Given the description of an element on the screen output the (x, y) to click on. 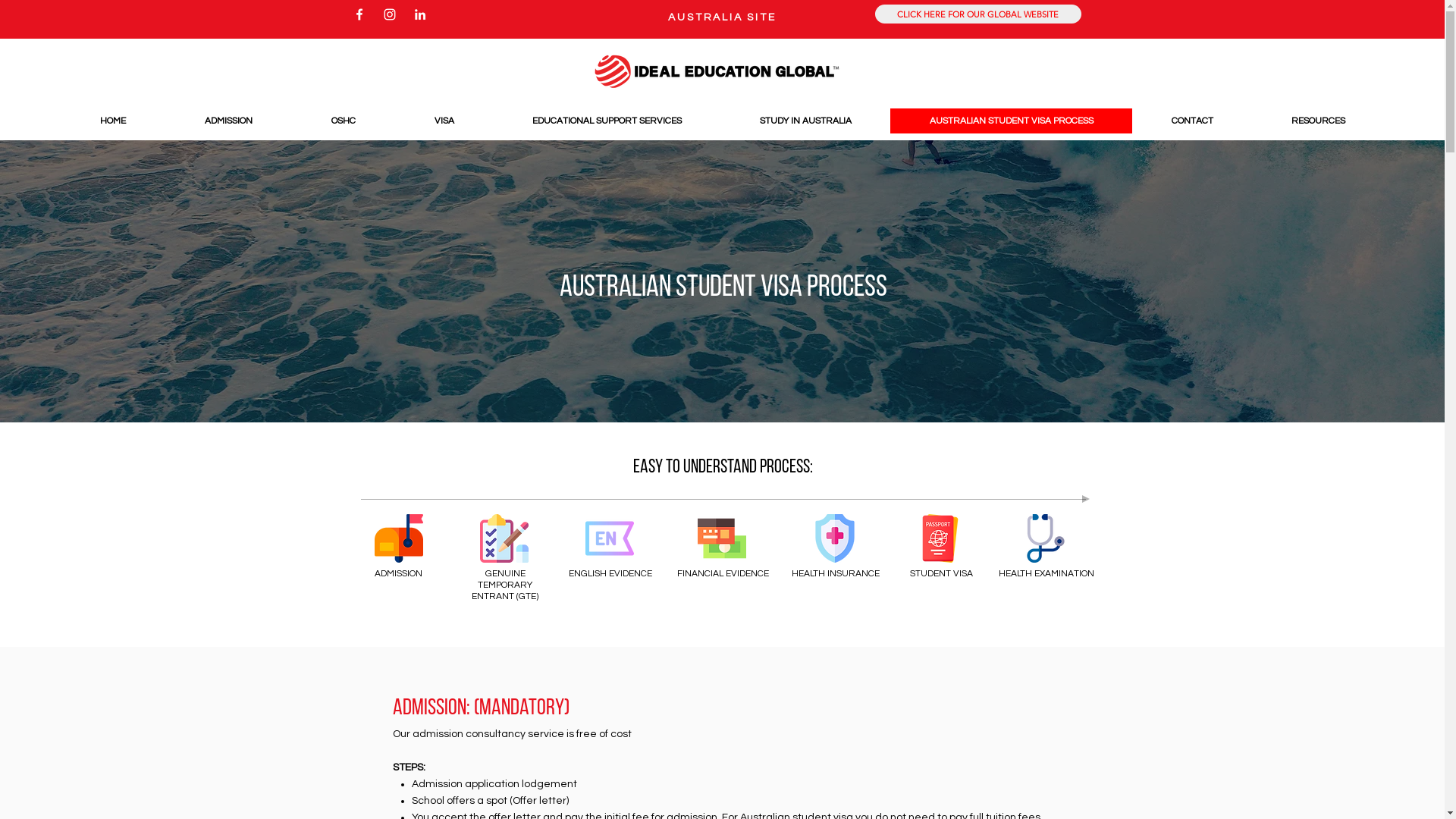
VISA Element type: text (443, 120)
RESOURCES Element type: text (1317, 120)
OSHC Element type: text (342, 120)
CLICK HERE FOR OUR GLOBAL WEBSITE Element type: text (978, 13)
AUSTRALIAN STUDENT VISA PROCESS Element type: text (1011, 120)
CONTACT Element type: text (1192, 120)
HOME Element type: text (112, 120)
ADMISSION Element type: text (227, 120)
